Given the description of an element on the screen output the (x, y) to click on. 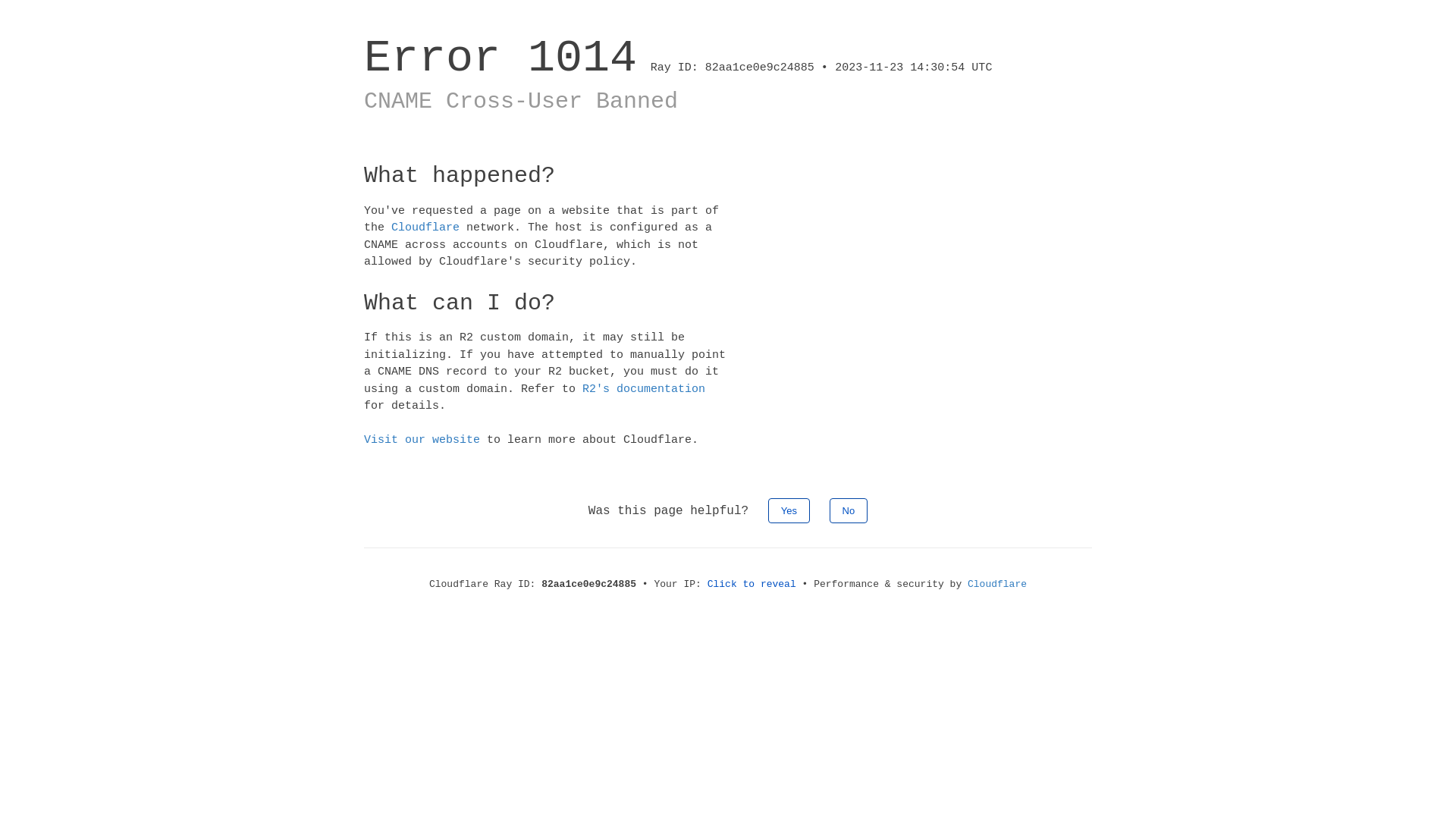
No Element type: text (848, 509)
R2's documentation Element type: text (643, 388)
Click to reveal Element type: text (751, 583)
Cloudflare Element type: text (996, 583)
Yes Element type: text (788, 509)
Visit our website Element type: text (422, 439)
Cloudflare Element type: text (425, 227)
